Given the description of an element on the screen output the (x, y) to click on. 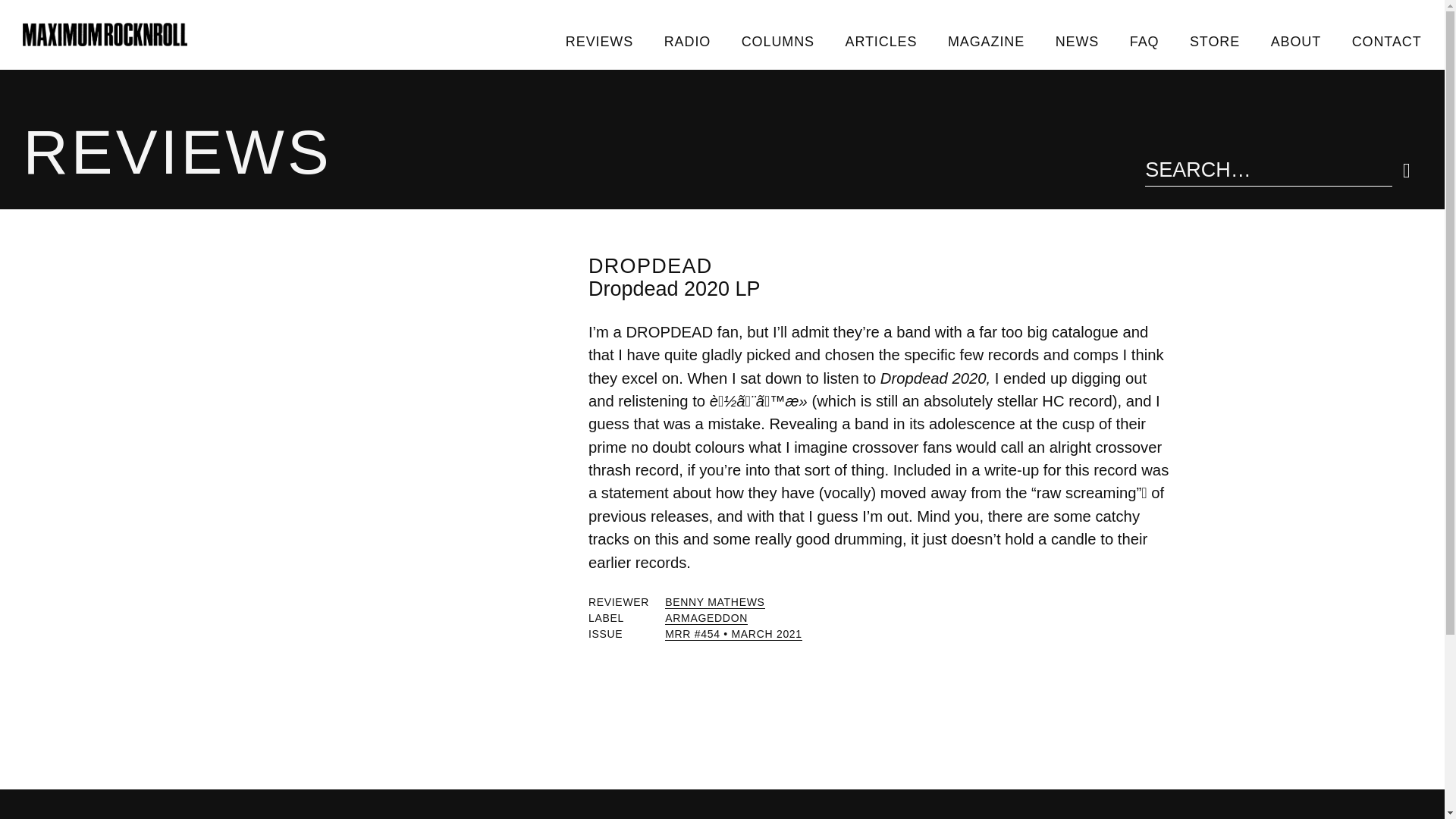
MAGAZINE (987, 41)
DROPDEAD (650, 265)
STORE (1214, 41)
REVIEWS (599, 41)
RADIO (686, 41)
ARMAGEDDON (706, 617)
ARTICLES (880, 41)
NEWS (1076, 41)
CONTACT (1385, 41)
COLUMNS (777, 41)
